Given the description of an element on the screen output the (x, y) to click on. 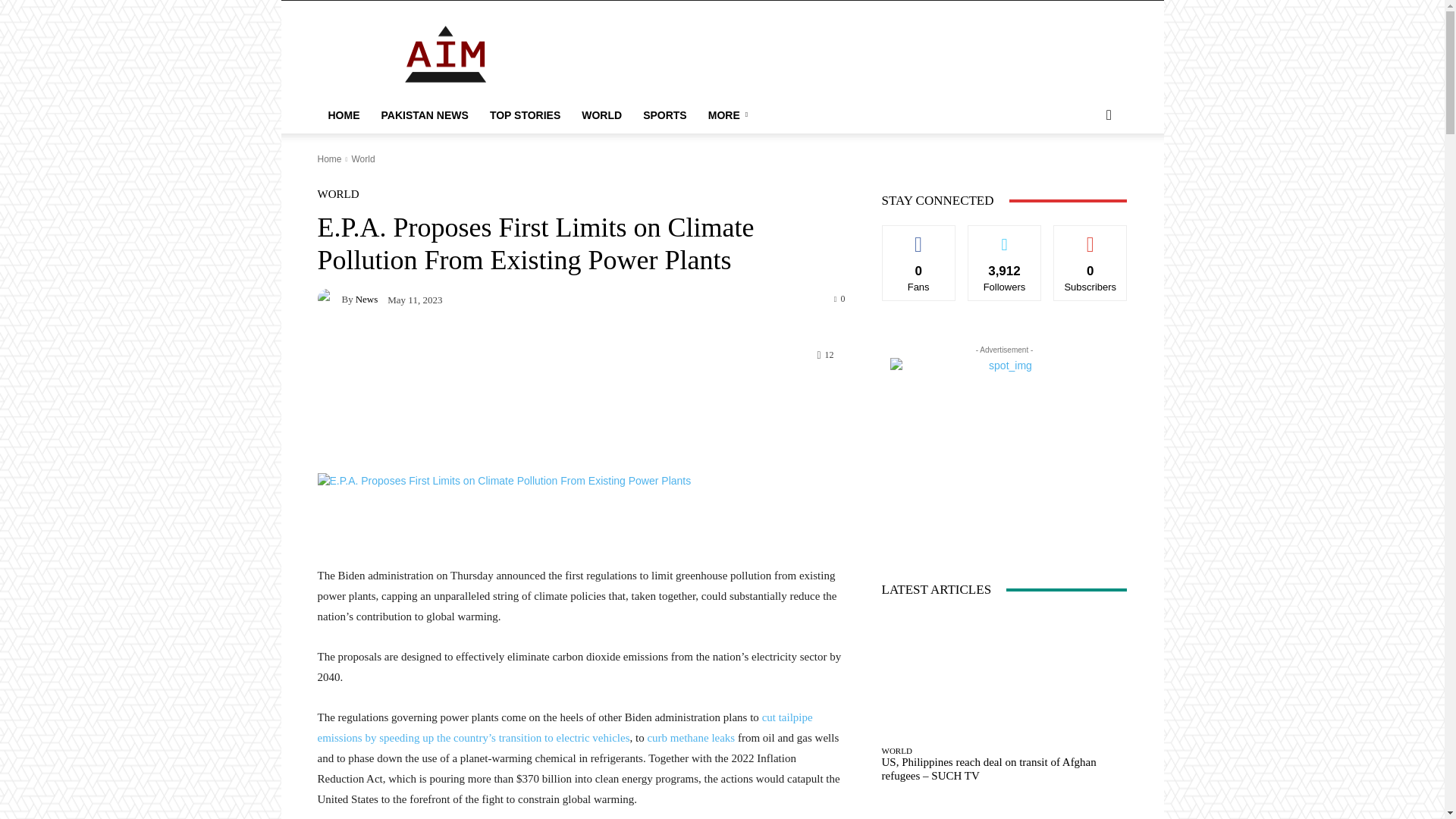
TOP STORIES (524, 115)
Home (328, 158)
0 (839, 297)
News (366, 298)
World (362, 158)
Search (1085, 175)
SPORTS (664, 115)
News (328, 298)
PAKISTAN NEWS (424, 115)
